Given the description of an element on the screen output the (x, y) to click on. 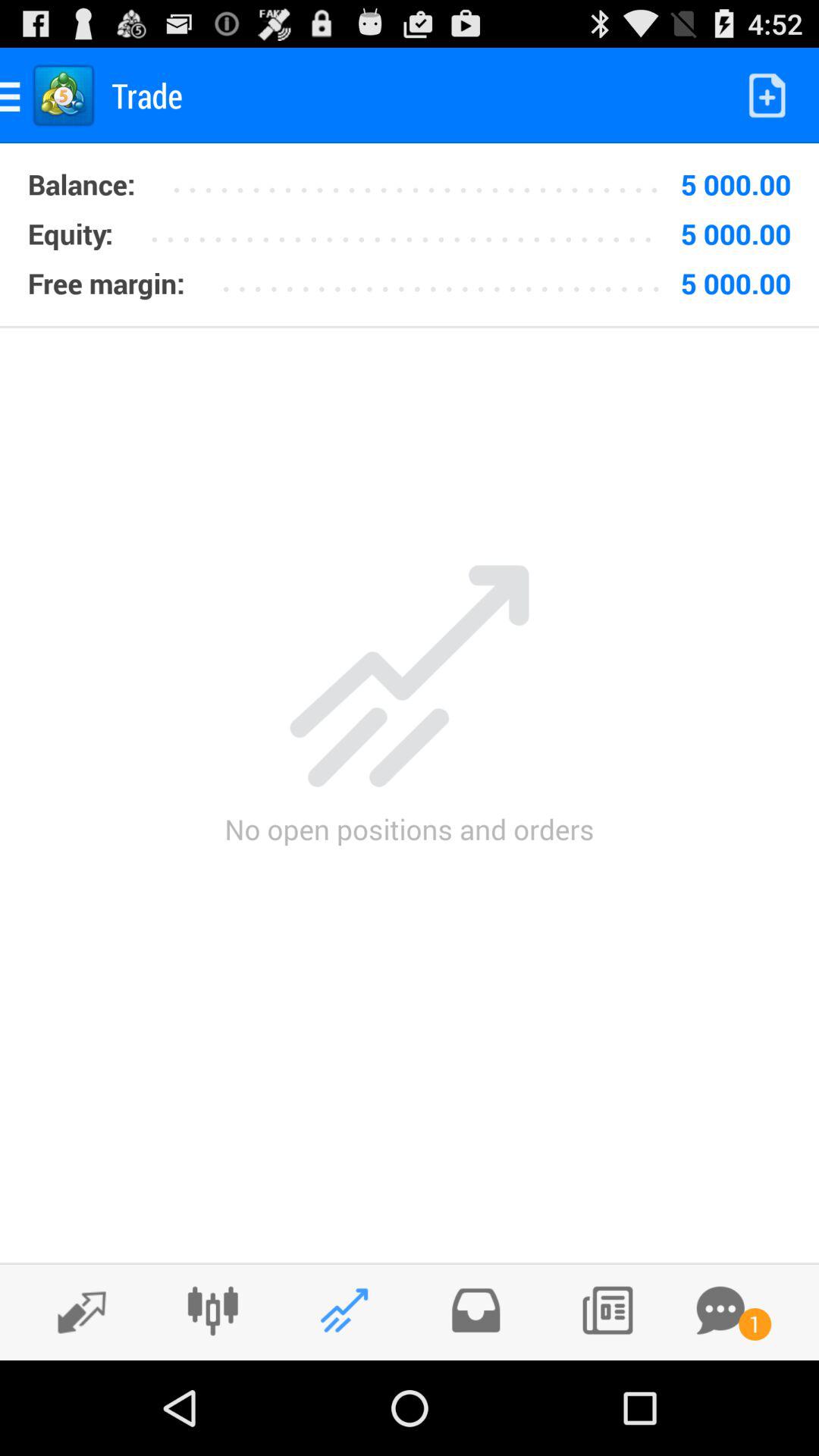
print document (606, 1310)
